Given the description of an element on the screen output the (x, y) to click on. 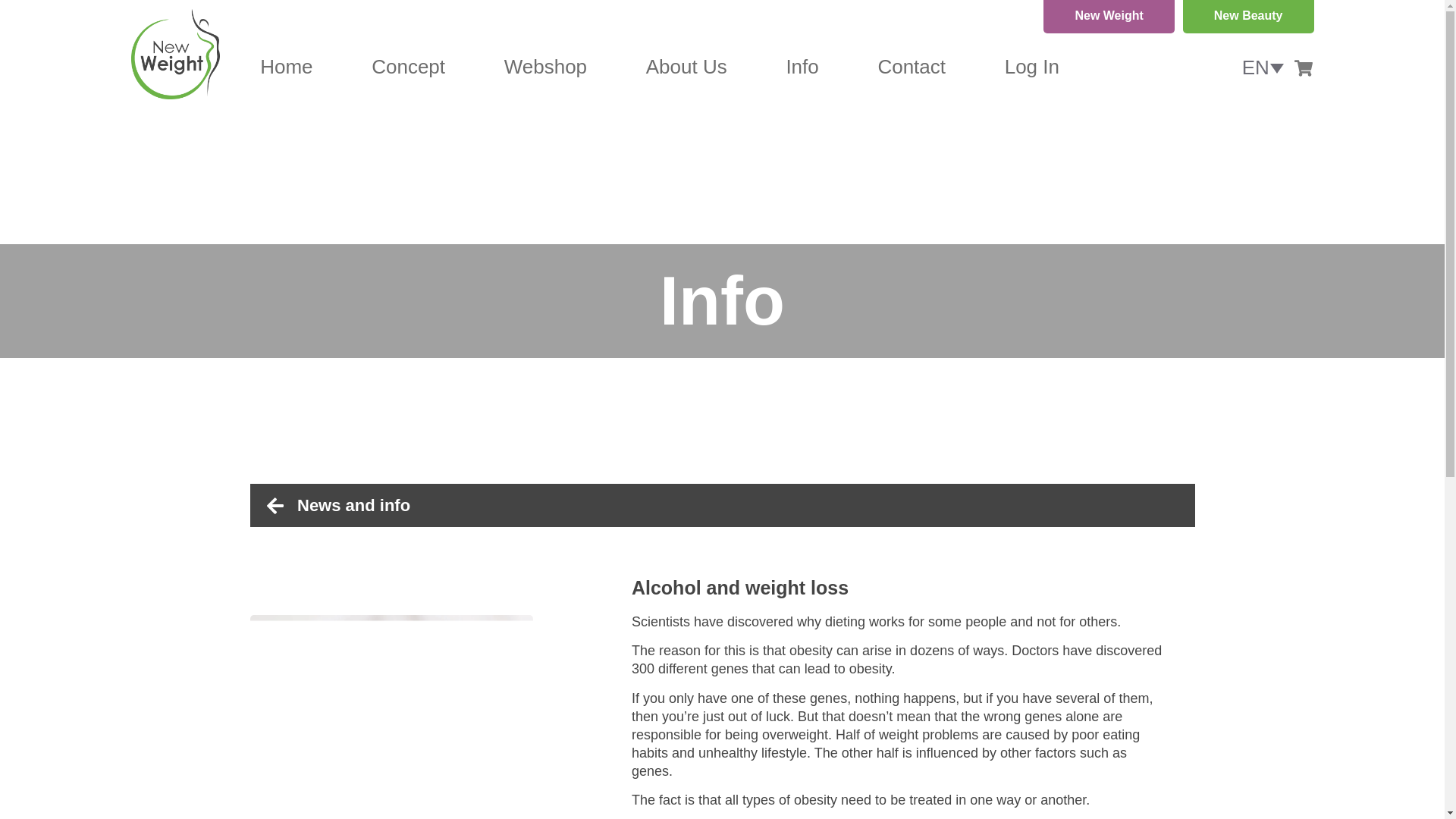
Concept (408, 66)
Webshop (544, 66)
Contact (910, 66)
EN (1262, 66)
New Weight (1108, 16)
Home (286, 66)
About Us (686, 66)
Info (802, 66)
News and info (730, 505)
New Beauty (1248, 16)
Log In (1031, 66)
